Given the description of an element on the screen output the (x, y) to click on. 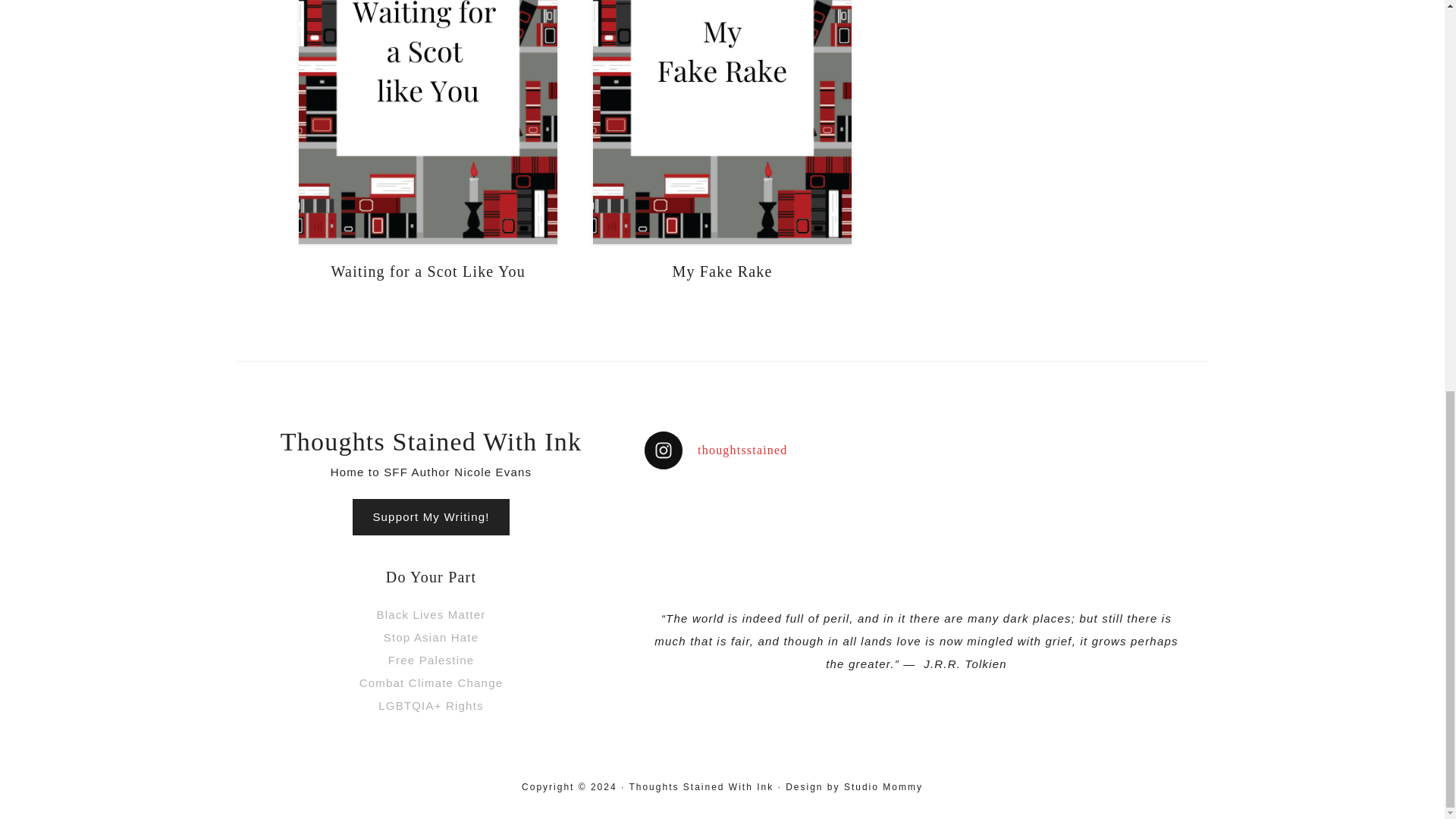
Free Palestine (431, 659)
My Fake Rake (721, 271)
Waiting for a Scot Like You (428, 271)
Combat Climate Change (430, 682)
thoughtsstained (916, 450)
Studio Mommy (883, 787)
Black Lives Matter (429, 614)
Support My Writing! (430, 516)
Stop Asian Hate (431, 636)
